Given the description of an element on the screen output the (x, y) to click on. 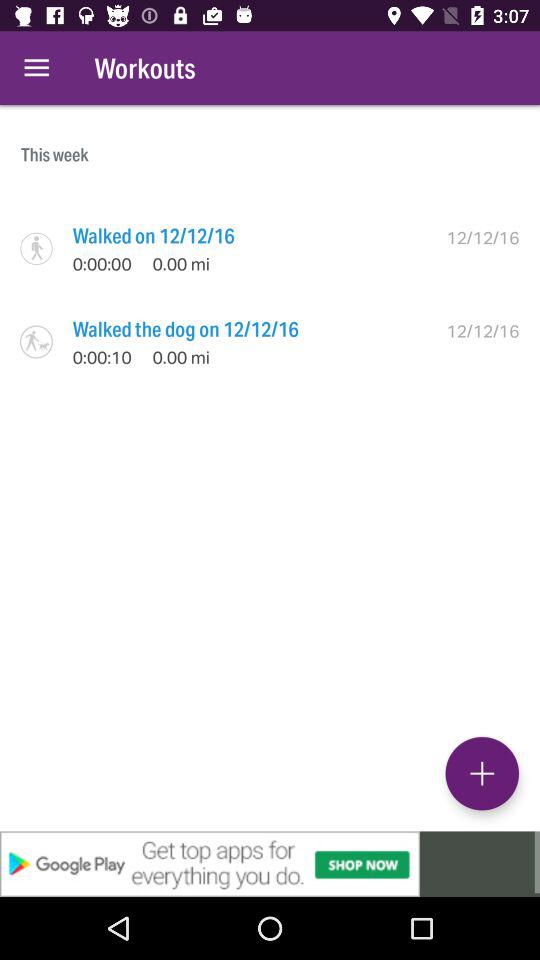
advertisement link banner (270, 864)
